Given the description of an element on the screen output the (x, y) to click on. 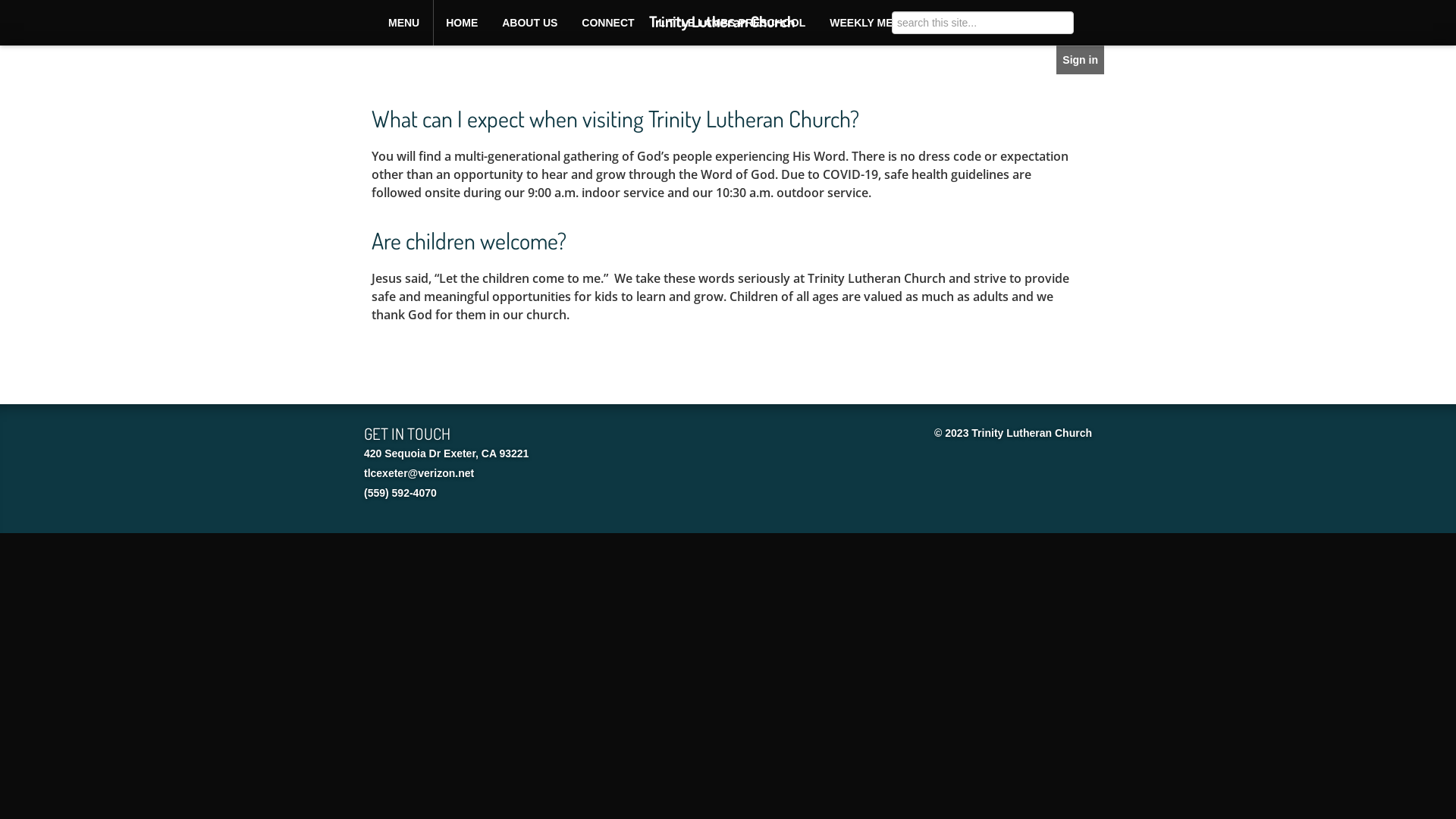
tlcexeter@verizon.net Element type: text (418, 473)
Sign in Element type: text (1080, 59)
WEEKLY MESSAGES Element type: text (883, 22)
420 Sequoia Dr Exeter, CA 93221 Element type: text (446, 453)
HOME Element type: text (461, 22)
